Given the description of an element on the screen output the (x, y) to click on. 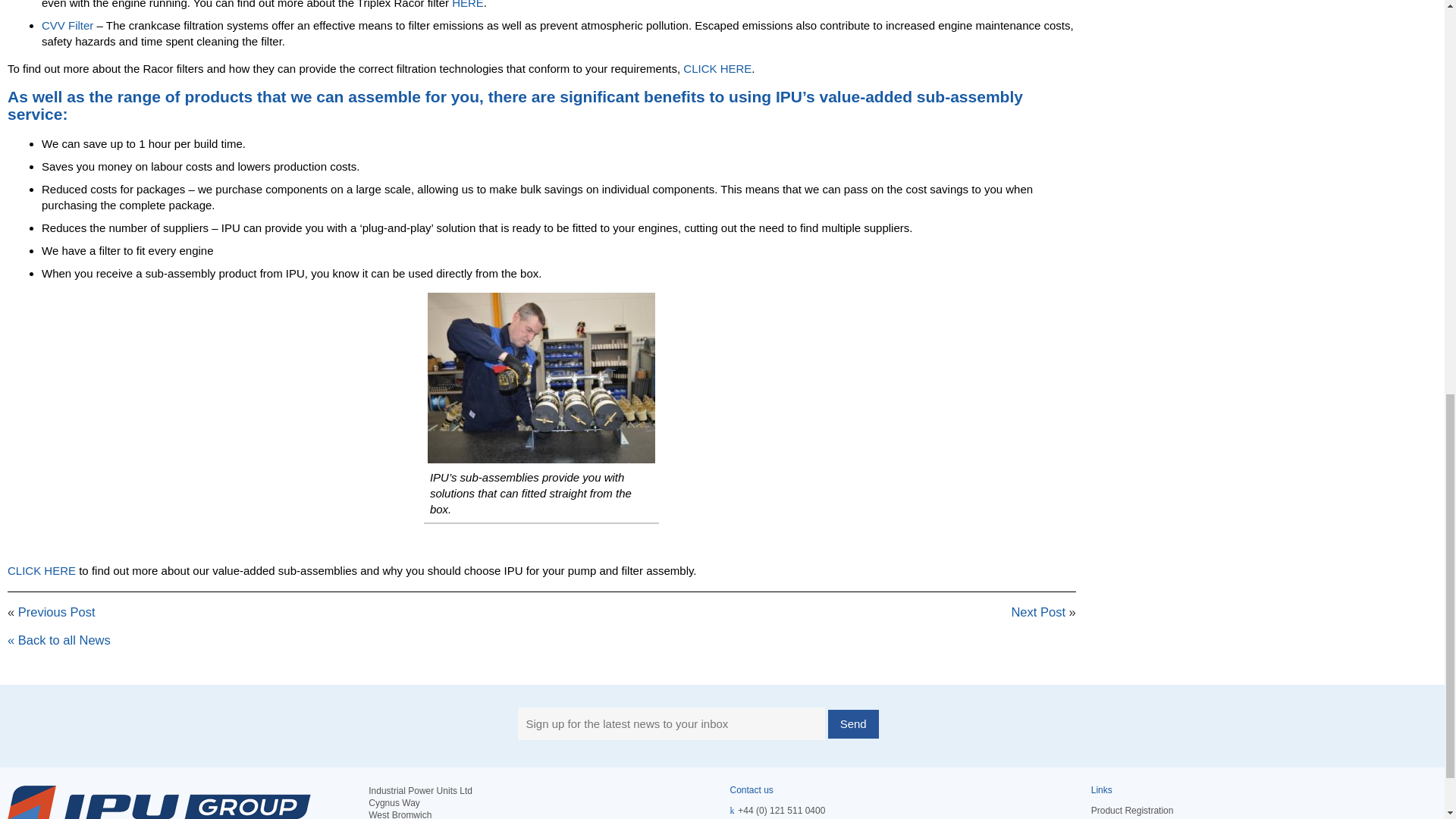
IPU Group (159, 802)
Back to all News (58, 640)
Send (853, 724)
Call us (781, 810)
